Given the description of an element on the screen output the (x, y) to click on. 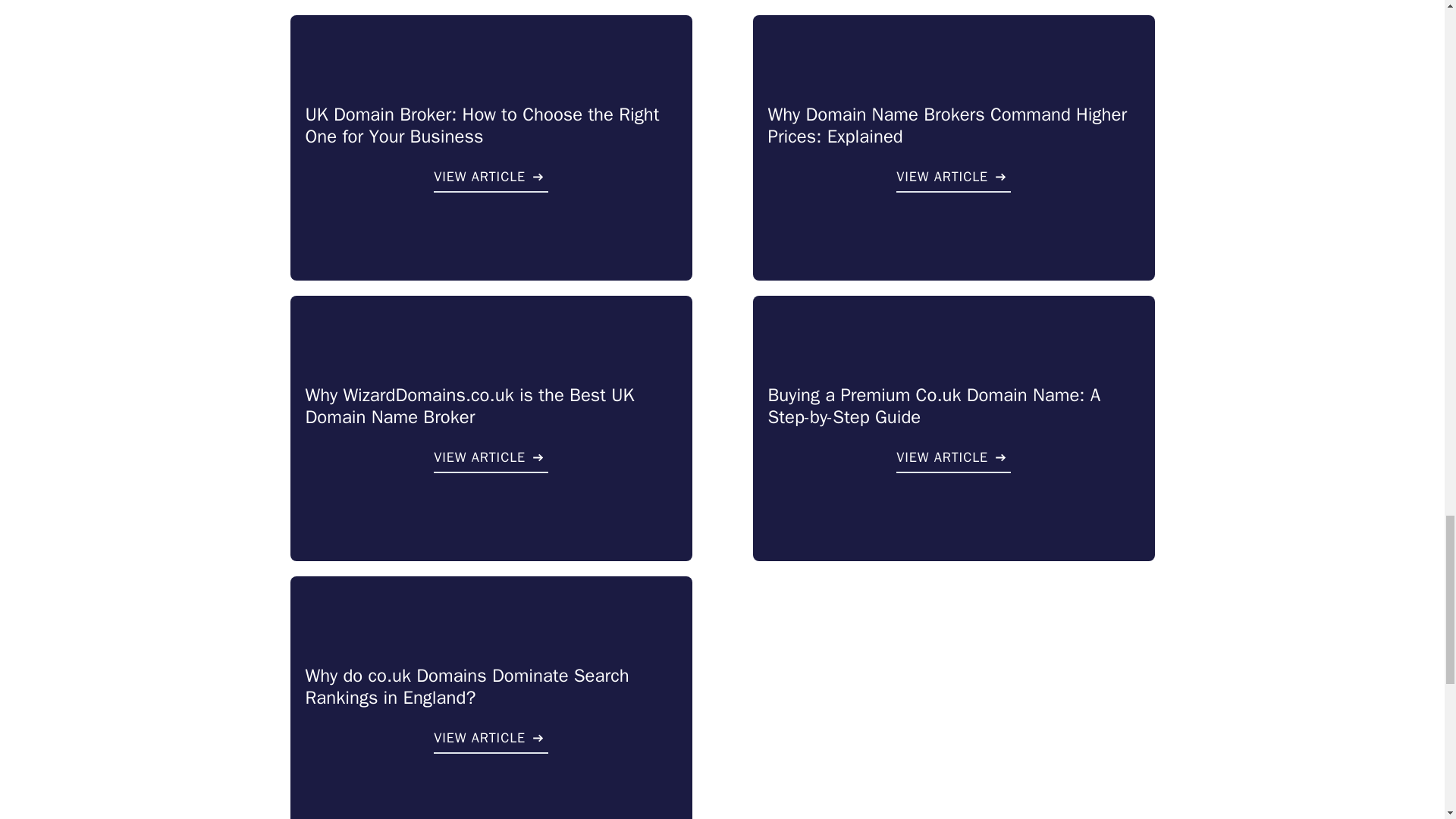
Why WizardDomains.co.uk is the Best UK Domain Name Broker (468, 406)
VIEW ARTICLE (490, 740)
VIEW ARTICLE (953, 460)
Why Domain Name Brokers Command Higher Prices: Explained (946, 125)
Buying a Premium Co.uk Domain Name: A Step-by-Step Guide (933, 406)
VIEW ARTICLE (490, 179)
VIEW ARTICLE (490, 460)
VIEW ARTICLE (953, 179)
Why do co.uk Domains Dominate Search Rankings in England? (466, 686)
